Given the description of an element on the screen output the (x, y) to click on. 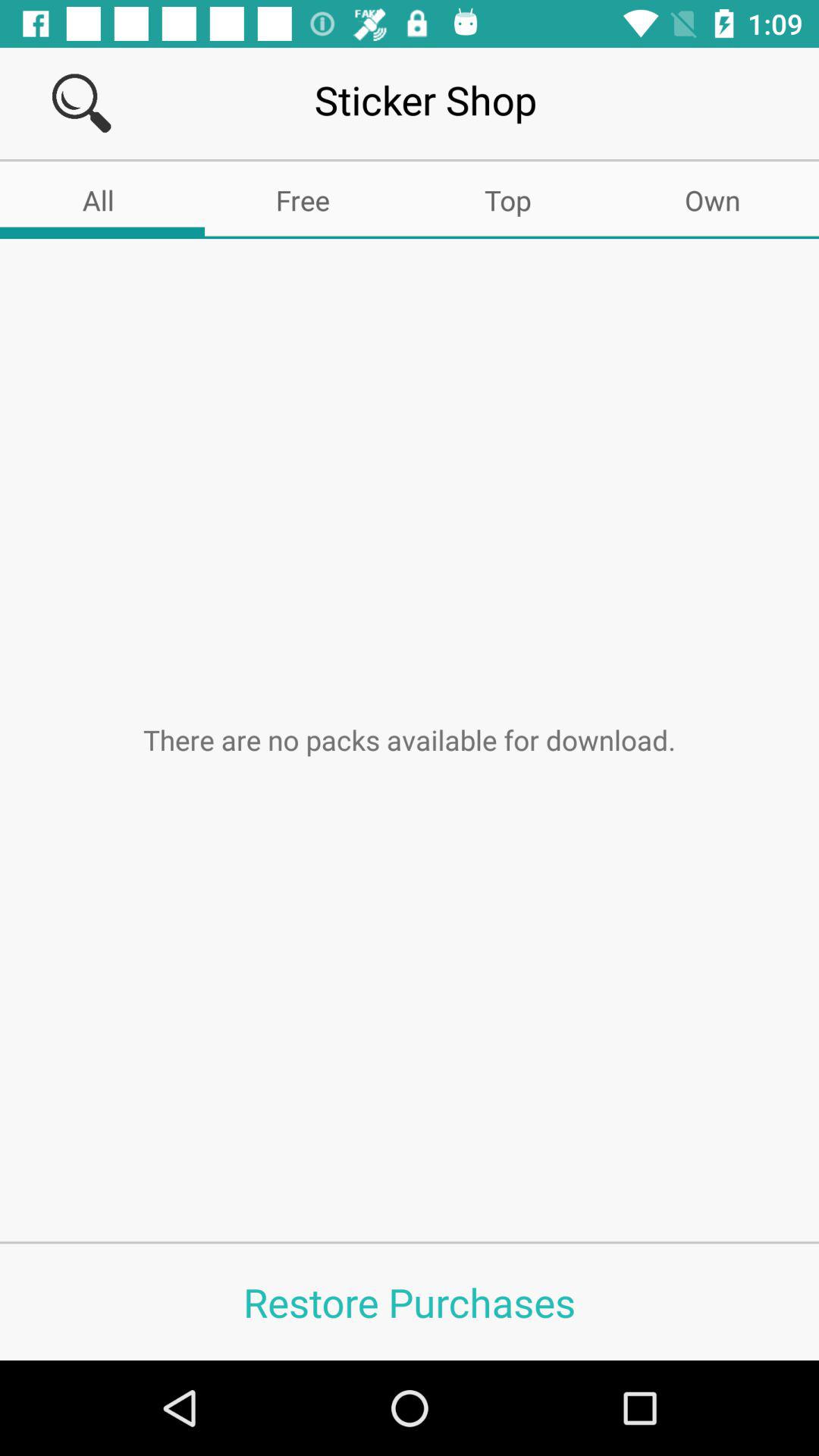
search (81, 103)
